Given the description of an element on the screen output the (x, y) to click on. 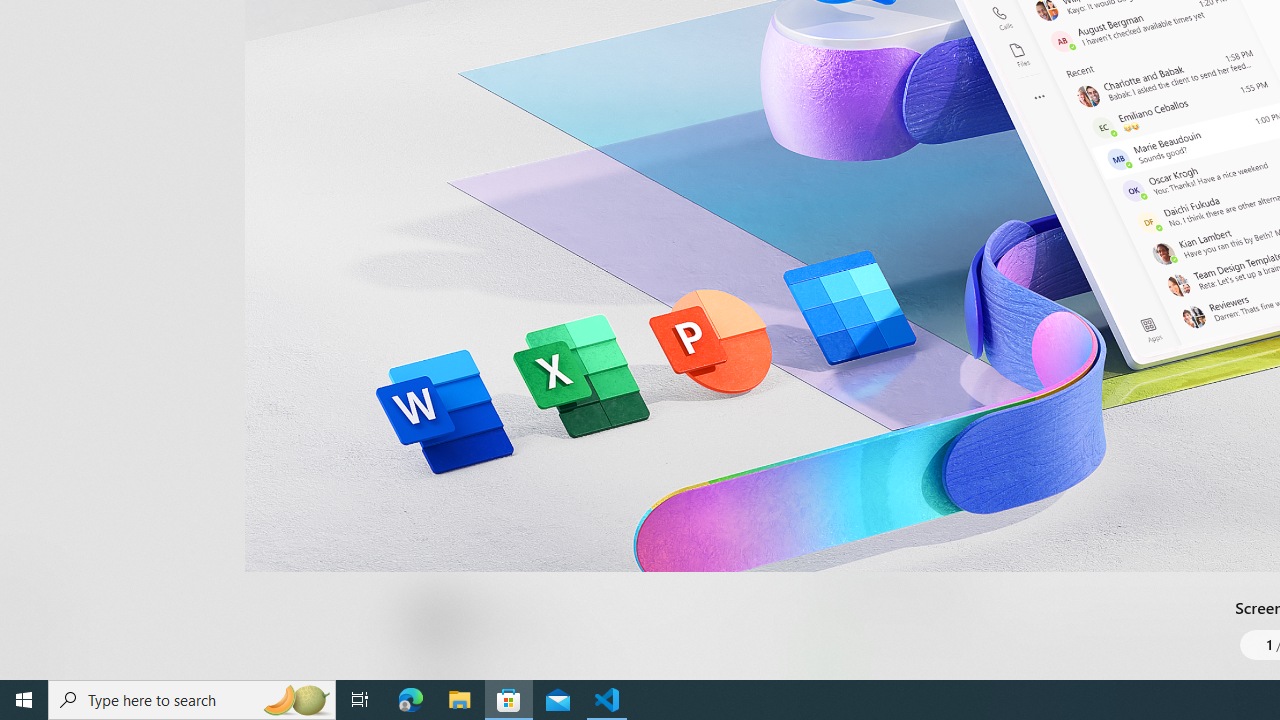
Age rating: EVERYONE. Click for more information. (506, 619)
Library (35, 640)
Show all ratings and reviews (838, 207)
Share (746, 632)
Show less (850, 518)
What's New (35, 578)
Show more (854, 674)
Productivity (579, 30)
